Given the description of an element on the screen output the (x, y) to click on. 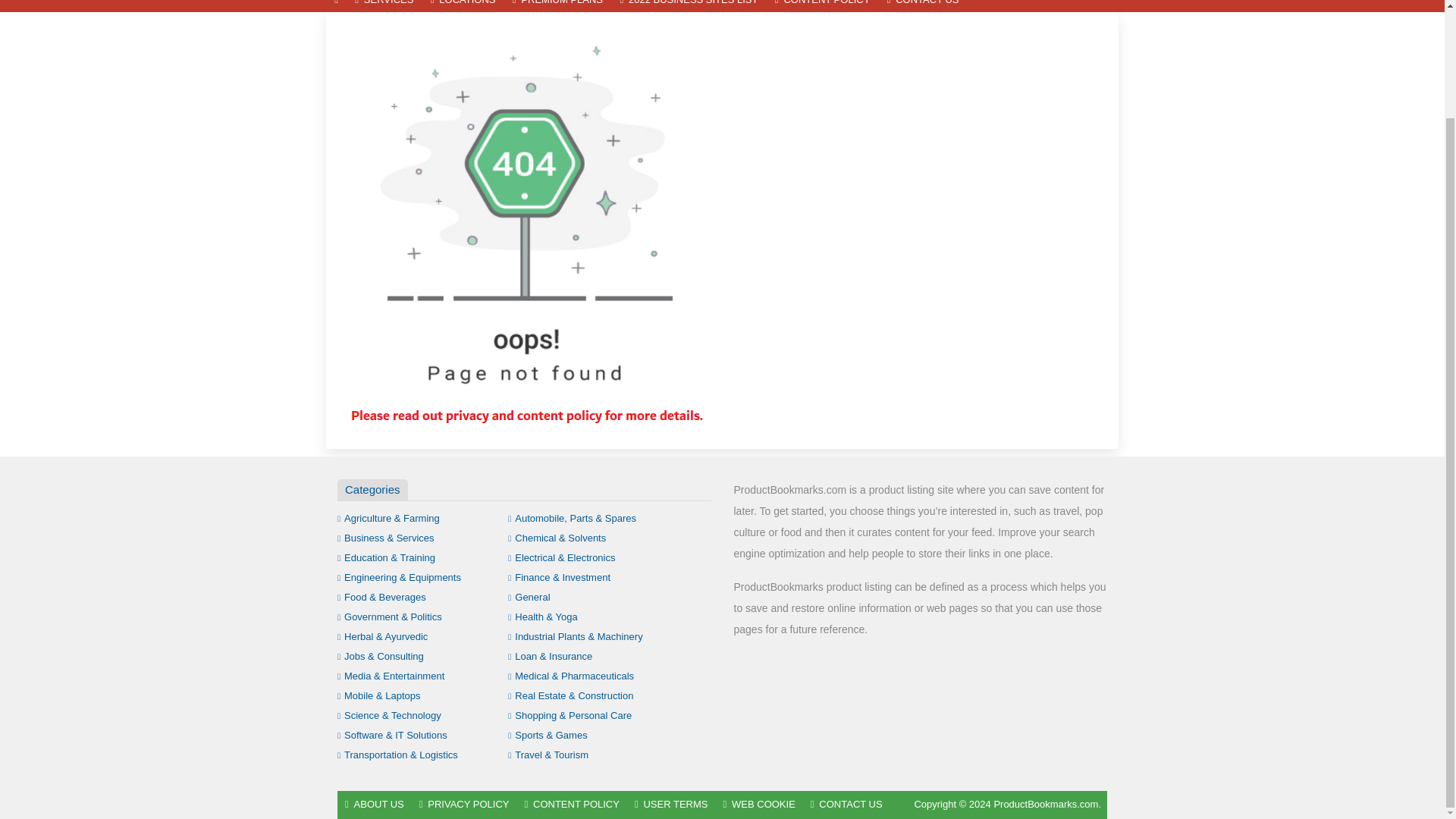
HOME (336, 6)
LOCATIONS (462, 6)
CONTENT POLICY (823, 6)
PREMIUM PLANS (557, 6)
General (529, 596)
2022 BUSINESS SITES LIST (688, 6)
SERVICES (384, 6)
CONTACT US (921, 6)
